Given the description of an element on the screen output the (x, y) to click on. 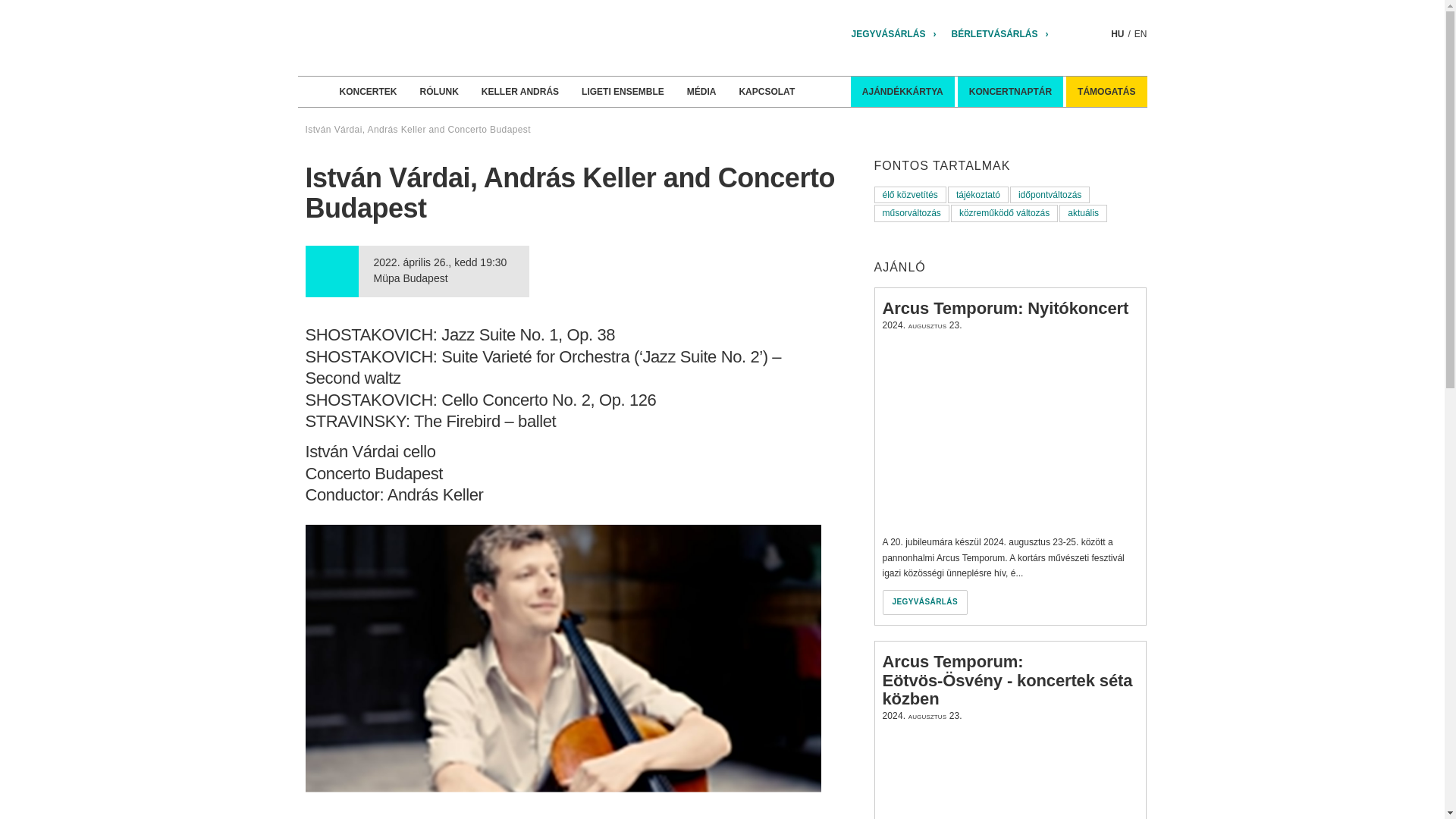
LIGETI ENSEMBLE (622, 91)
HU (1117, 33)
KONCERTEK (367, 91)
EN (1140, 33)
KAPCSOLAT (766, 91)
Concerto Budapest (427, 38)
search (1098, 33)
